Given the description of an element on the screen output the (x, y) to click on. 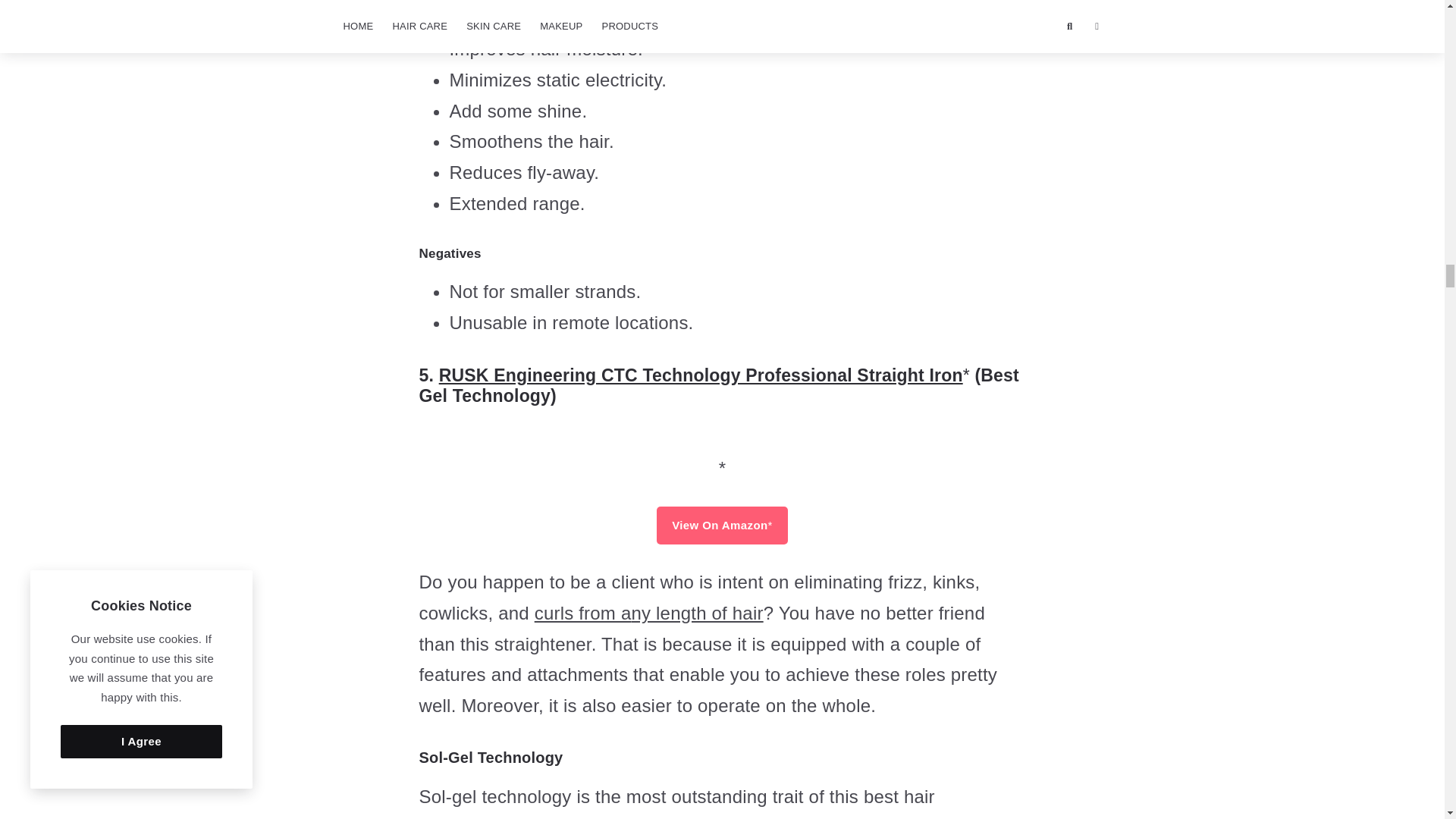
RUSK Engineering CTC (722, 449)
